Given the description of an element on the screen output the (x, y) to click on. 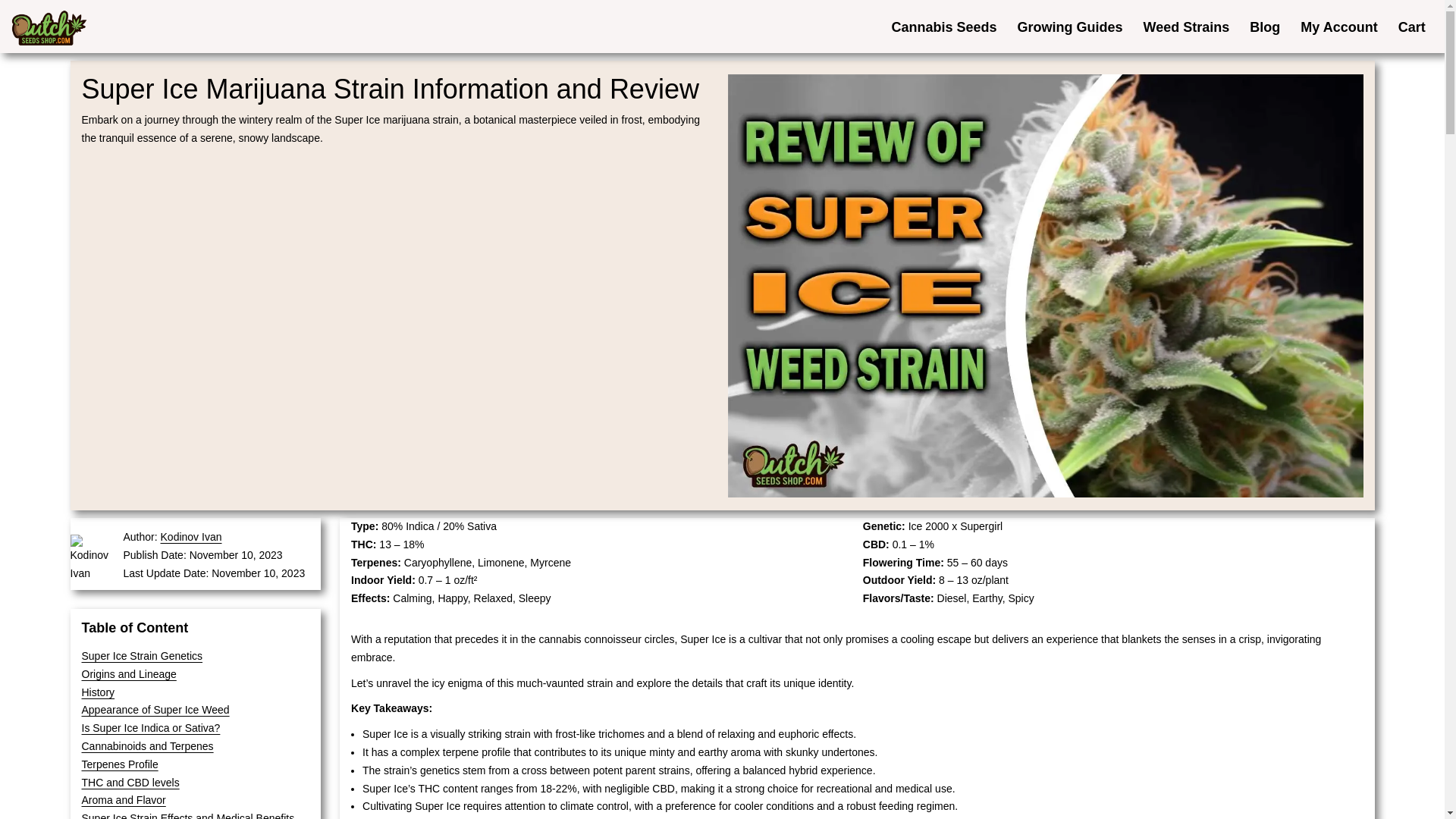
My Account (1338, 26)
Cannabis Seeds (943, 26)
Origins and Lineage (128, 674)
Kodinov Ivan (191, 536)
Growing Guides (1069, 26)
Super Ice Strain Genetics (142, 655)
Cart (1411, 26)
Weed Strains (1186, 26)
Appearance of Super Ice Weed (155, 709)
History (98, 692)
